Given the description of an element on the screen output the (x, y) to click on. 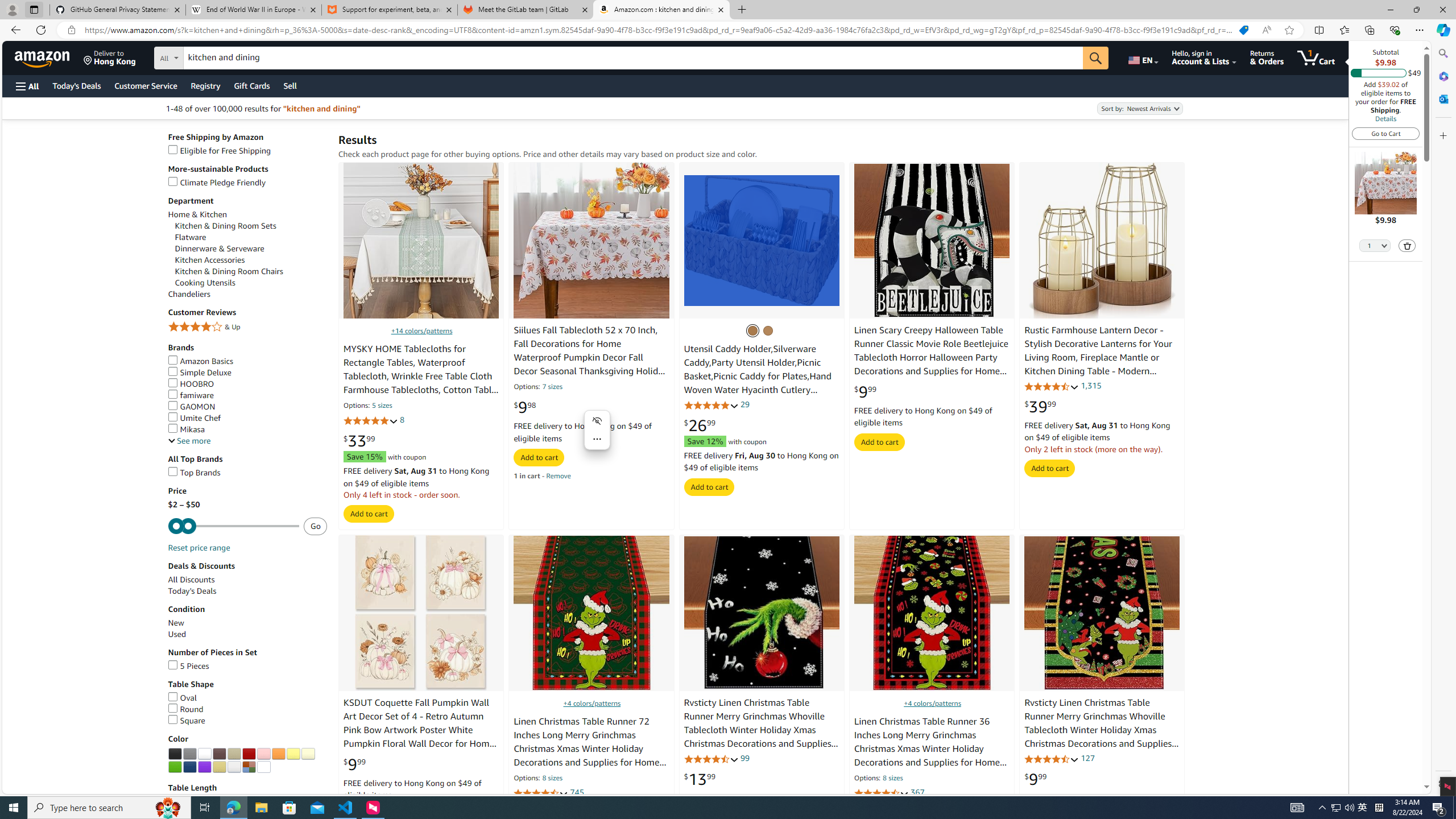
Square (186, 720)
Pink (263, 753)
Sort by: (1139, 108)
Climate Pledge Friendly (247, 182)
Go to Cart (1385, 133)
famiware (247, 395)
Round (247, 709)
AutomationID: p_n_feature_twenty_browse-bin/3254099011 (189, 753)
Kitchen & Dining Room Sets (250, 225)
AutomationID: p_n_feature_twenty_browse-bin/3254112011 (234, 766)
Maximum (233, 525)
Umite Chef (247, 418)
